Given the description of an element on the screen output the (x, y) to click on. 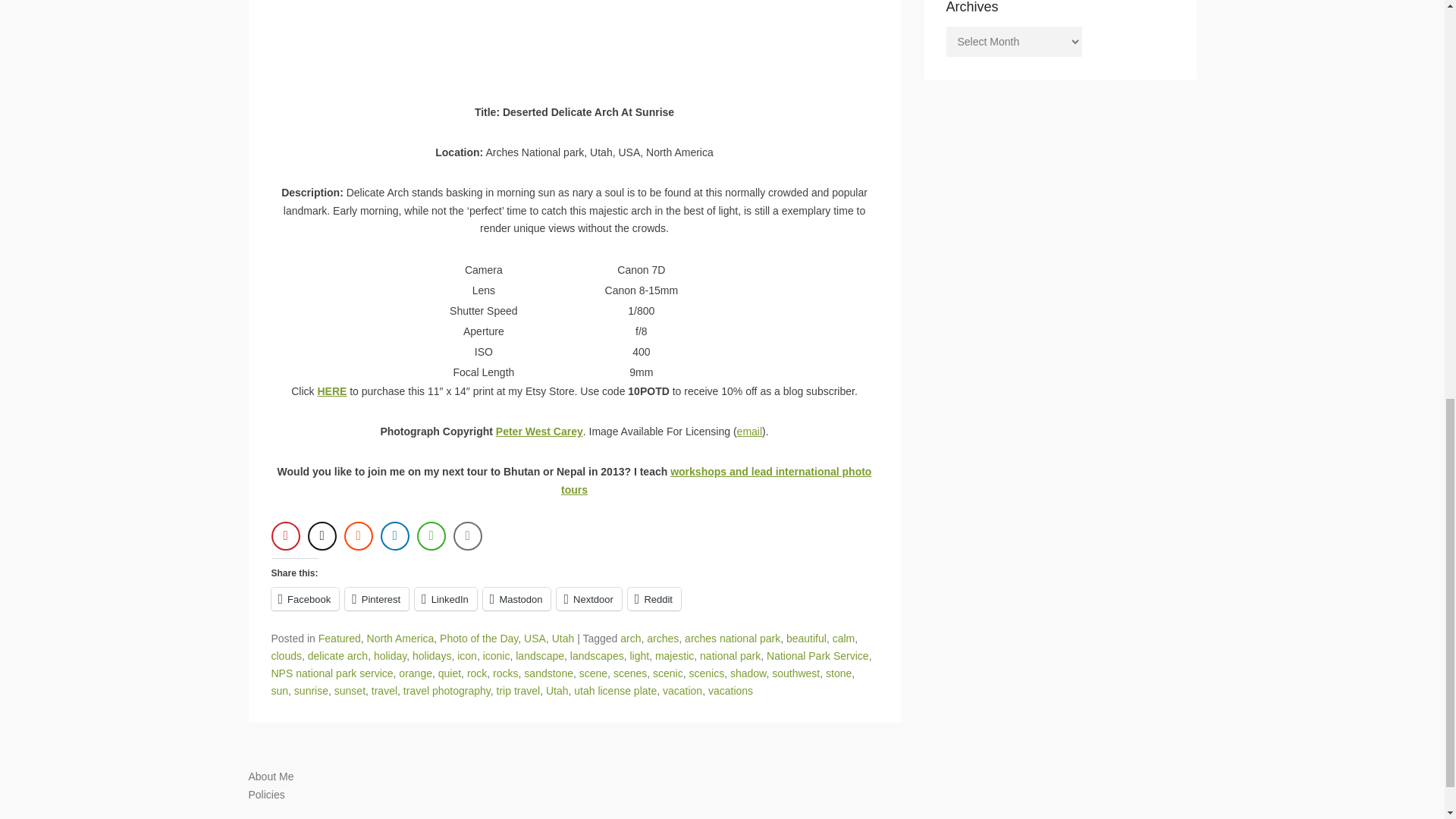
workshops and lead international photo tours (715, 480)
Reddit (654, 599)
Peter West Carey (539, 431)
Mastodon (517, 599)
Facebook (304, 599)
Featured (339, 638)
Utah (563, 638)
Click to share on LinkedIn (445, 599)
email (748, 431)
HERE (331, 390)
